Given the description of an element on the screen output the (x, y) to click on. 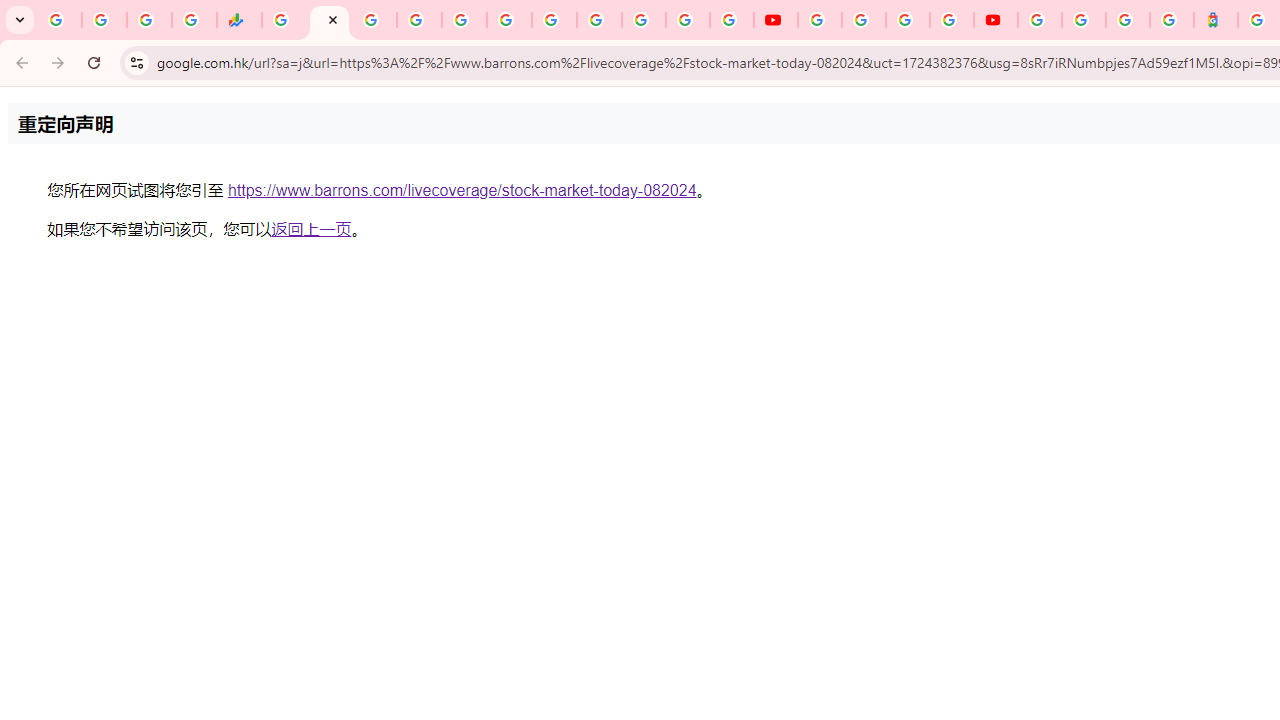
Create your Google Account (907, 20)
Google Workspace Admin Community (59, 20)
Privacy Checkup (731, 20)
Android TV Policies and Guidelines - Transparency Center (554, 20)
YouTube (819, 20)
Sign in - Google Accounts (418, 20)
Content Creator Programs & Opportunities - YouTube Creators (995, 20)
Sign in - Google Accounts (1083, 20)
